Given the description of an element on the screen output the (x, y) to click on. 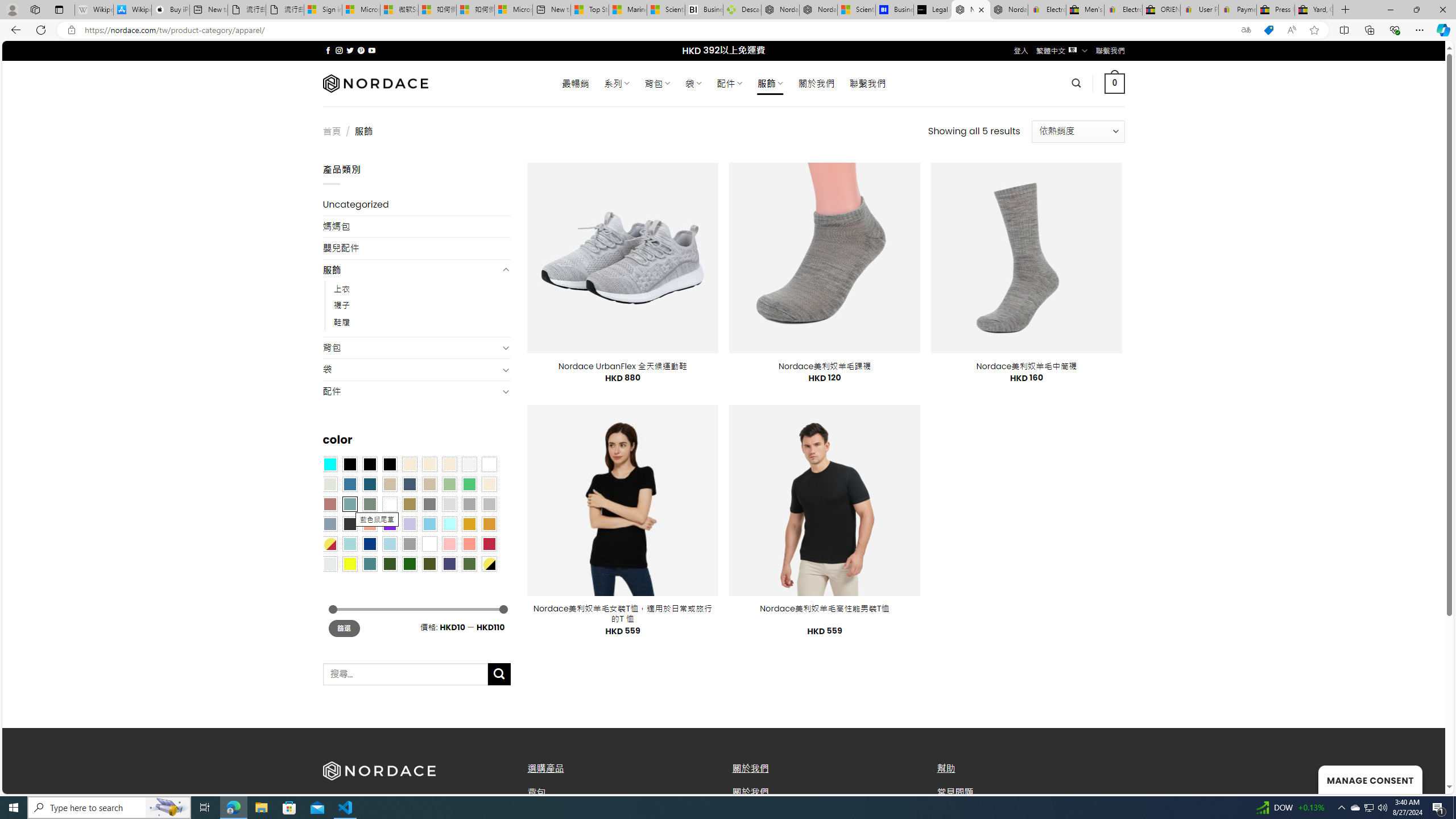
Microsoft account | Account Checkup (513, 9)
MANAGE CONSENT (1369, 779)
Uncategorized (416, 204)
